Given the description of an element on the screen output the (x, y) to click on. 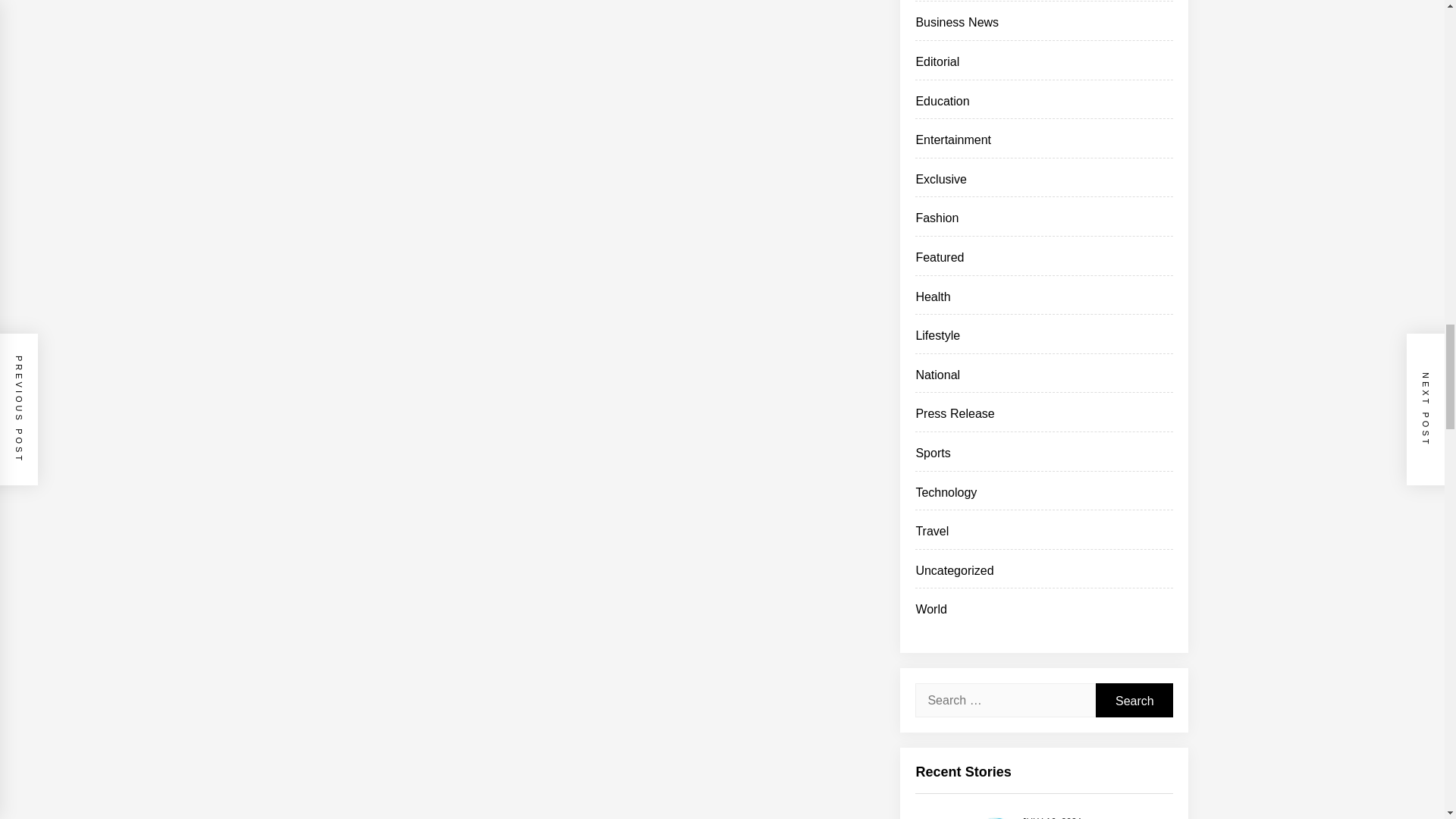
Search (1134, 700)
Search (1134, 700)
